Given the description of an element on the screen output the (x, y) to click on. 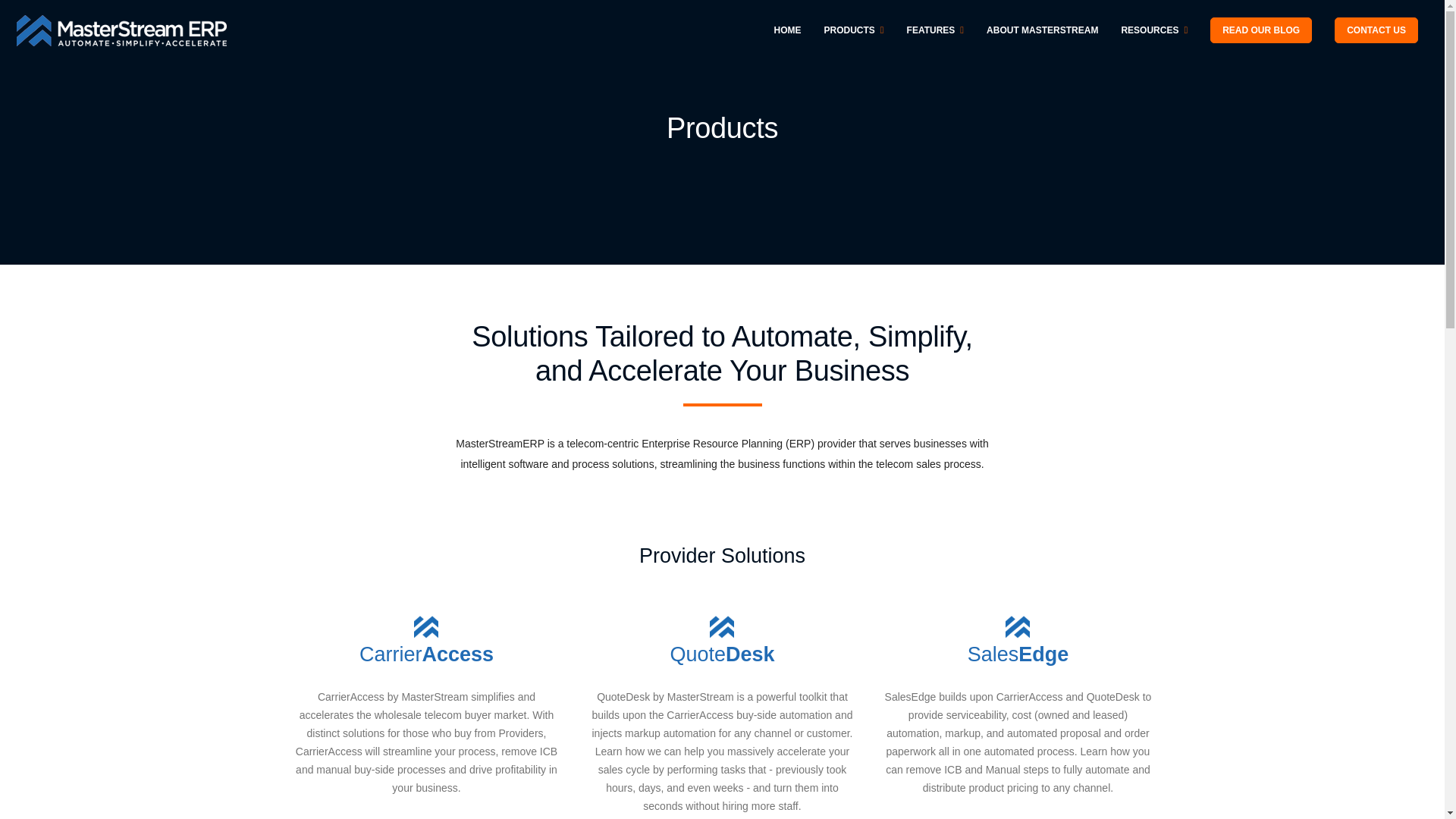
FEATURES (935, 29)
ABOUT MASTERSTREAM (1042, 29)
READ OUR BLOG (1260, 29)
RESOURCES (1153, 29)
QuoteDesk (722, 666)
PRODUCTS (853, 29)
logosss-1 (120, 29)
CONTACT US (1376, 29)
SalesEdge (1017, 666)
HOME (786, 29)
